Given the description of an element on the screen output the (x, y) to click on. 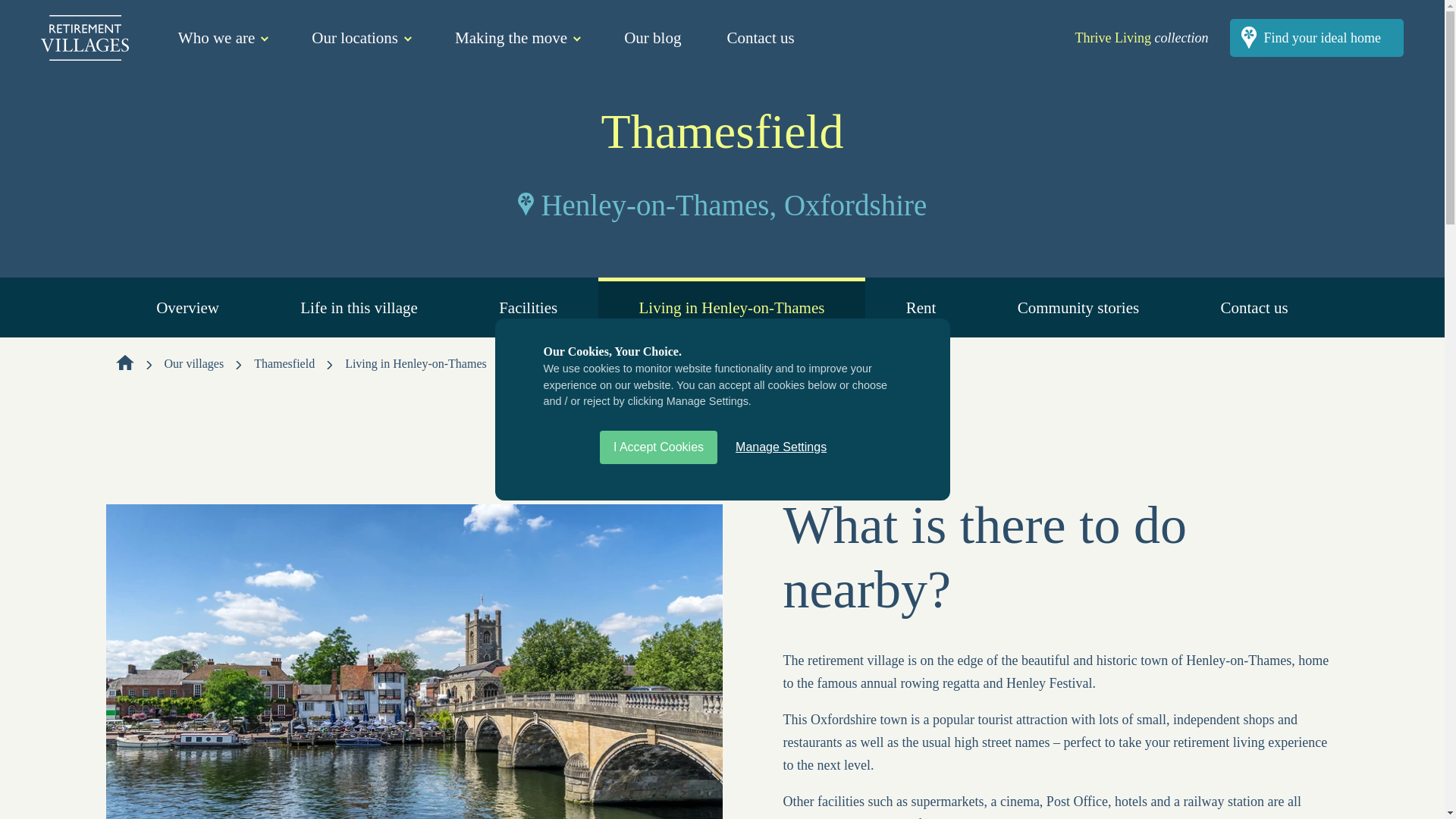
Who we are (221, 37)
Our locations (360, 37)
I Accept Cookies (658, 707)
Our locations (360, 37)
Retirement Villages (84, 37)
Who we are (221, 37)
Manage Settings (780, 700)
